Given the description of an element on the screen output the (x, y) to click on. 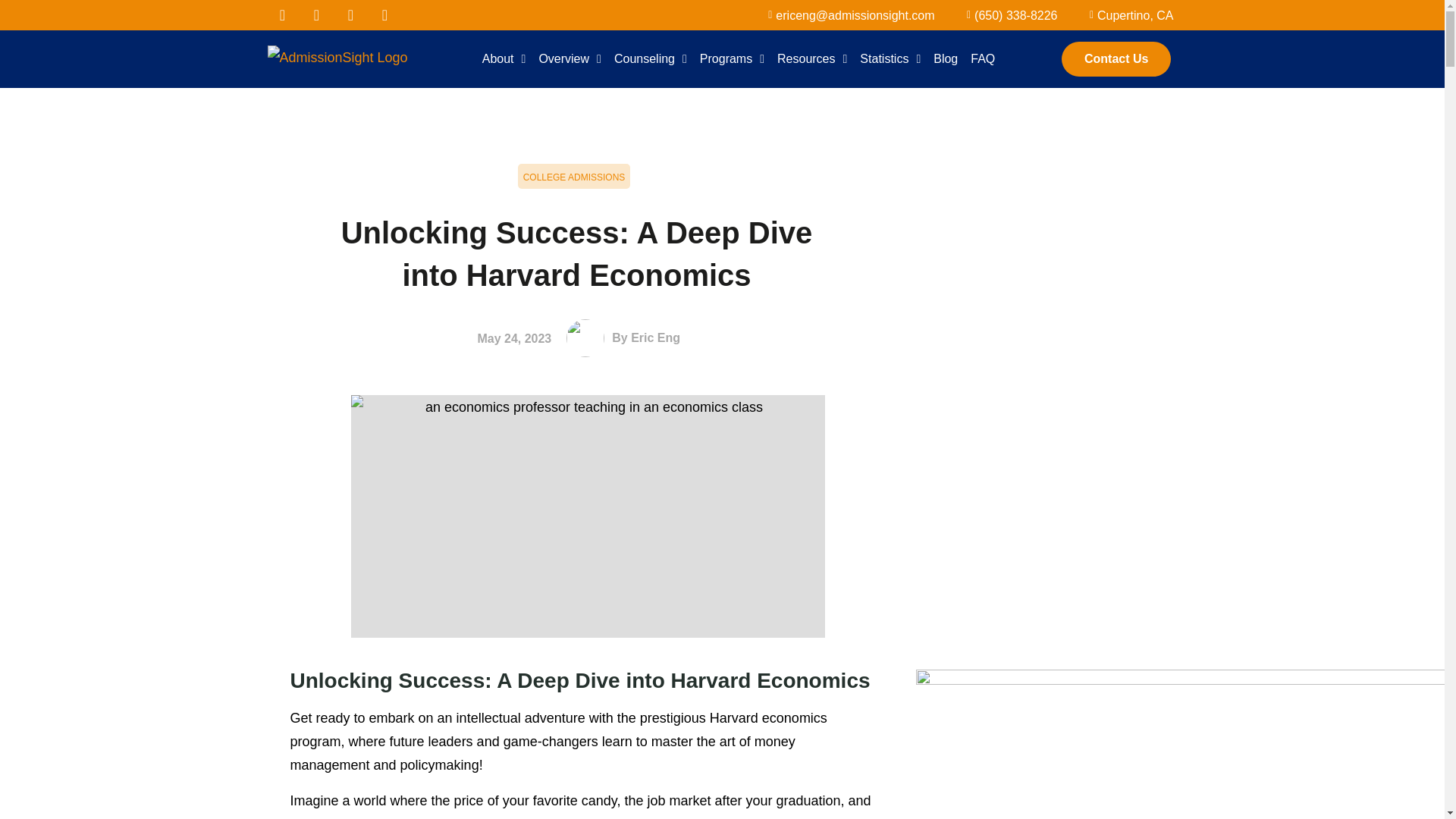
Facebook (281, 15)
Instagram (384, 15)
Programs (731, 59)
About (504, 59)
Twitter (316, 15)
Linkedin (349, 15)
Overview (569, 59)
Counseling (650, 59)
